Given the description of an element on the screen output the (x, y) to click on. 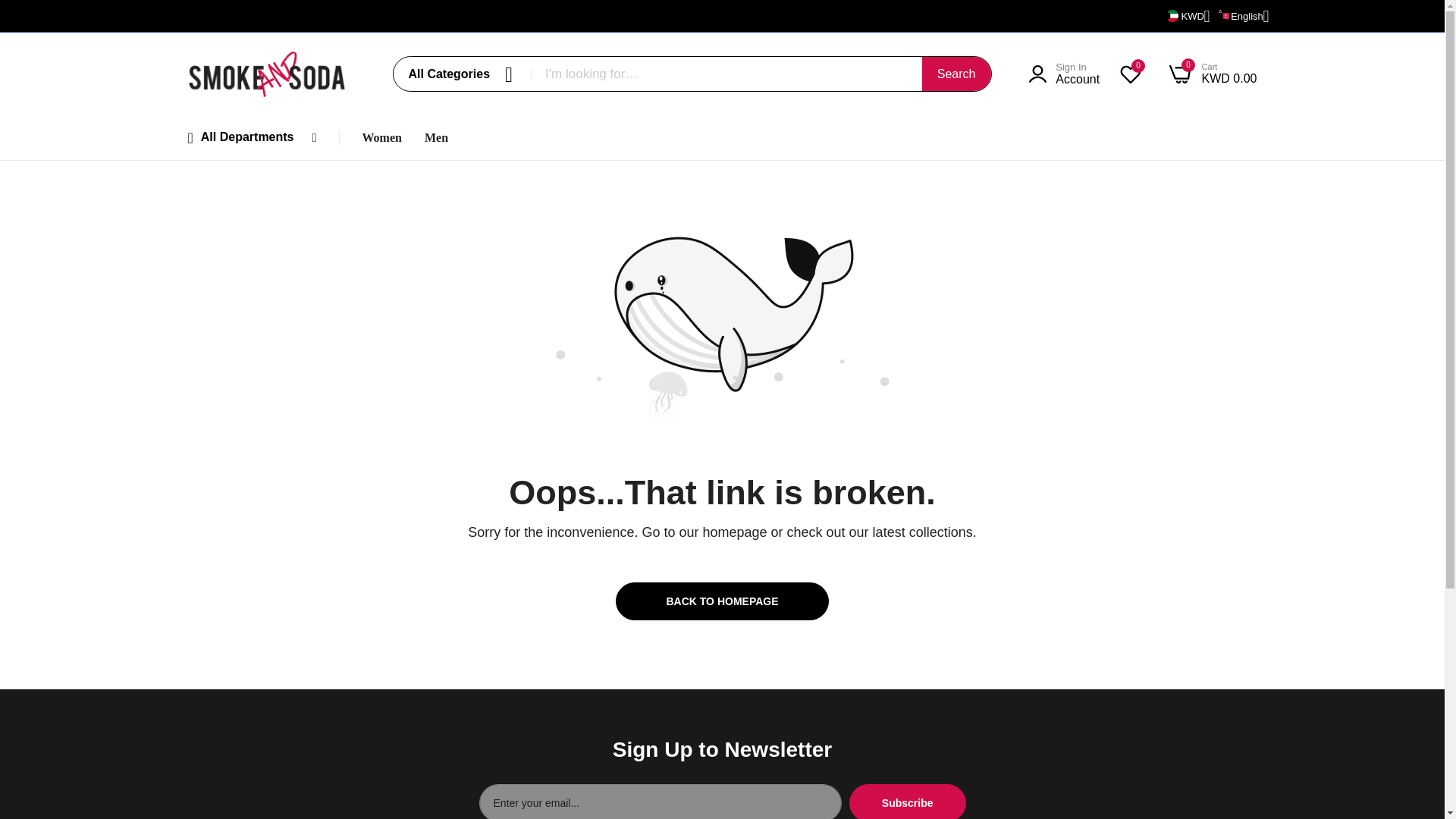
Men (436, 137)
Search (956, 73)
Smoke and Soda (266, 74)
0 (1130, 74)
Search (1064, 73)
All Categories (956, 73)
Women (1212, 74)
